Given the description of an element on the screen output the (x, y) to click on. 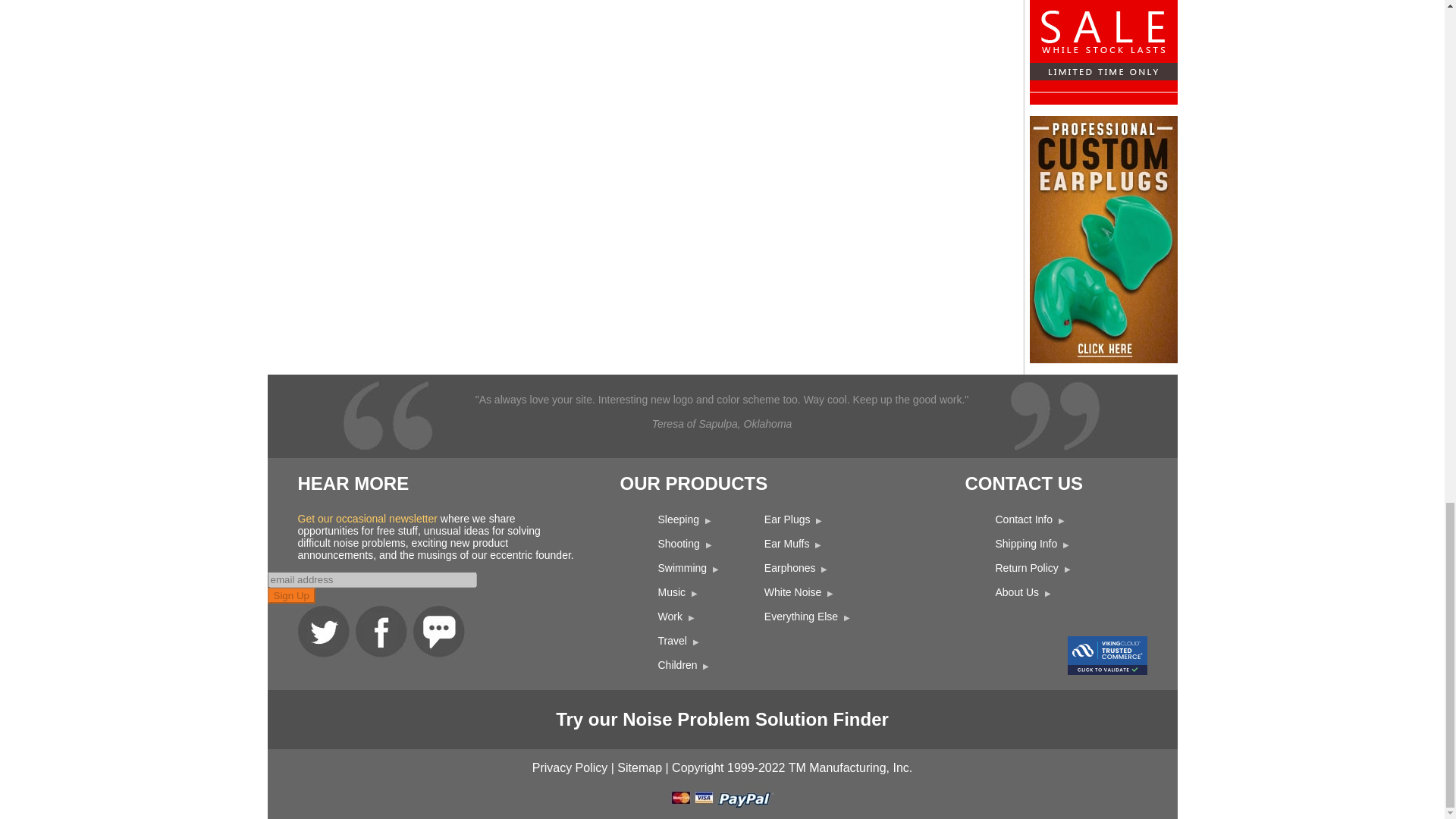
Sign Up (290, 595)
